Given the description of an element on the screen output the (x, y) to click on. 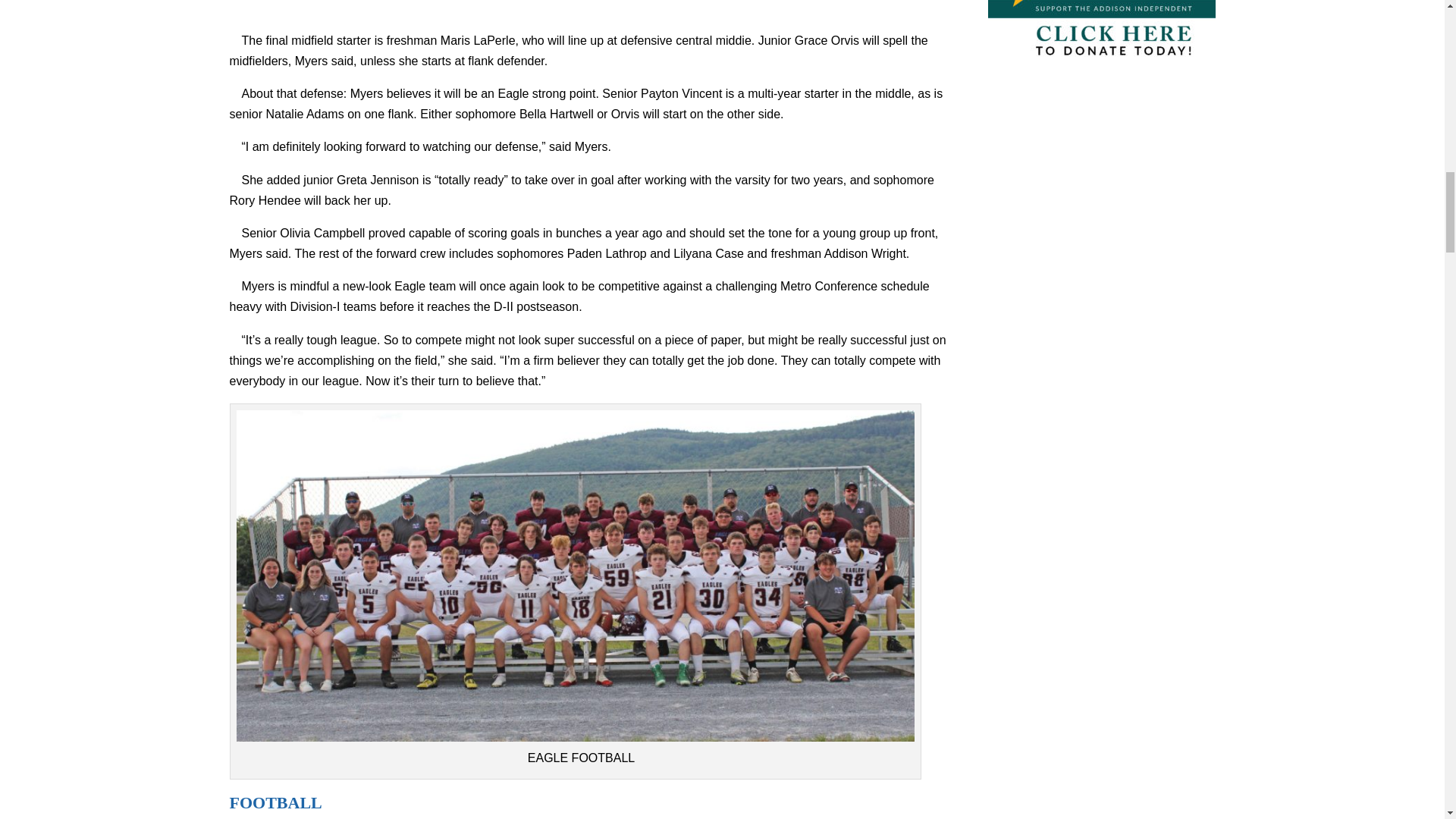
3rd party ad content (590, 11)
